Given the description of an element on the screen output the (x, y) to click on. 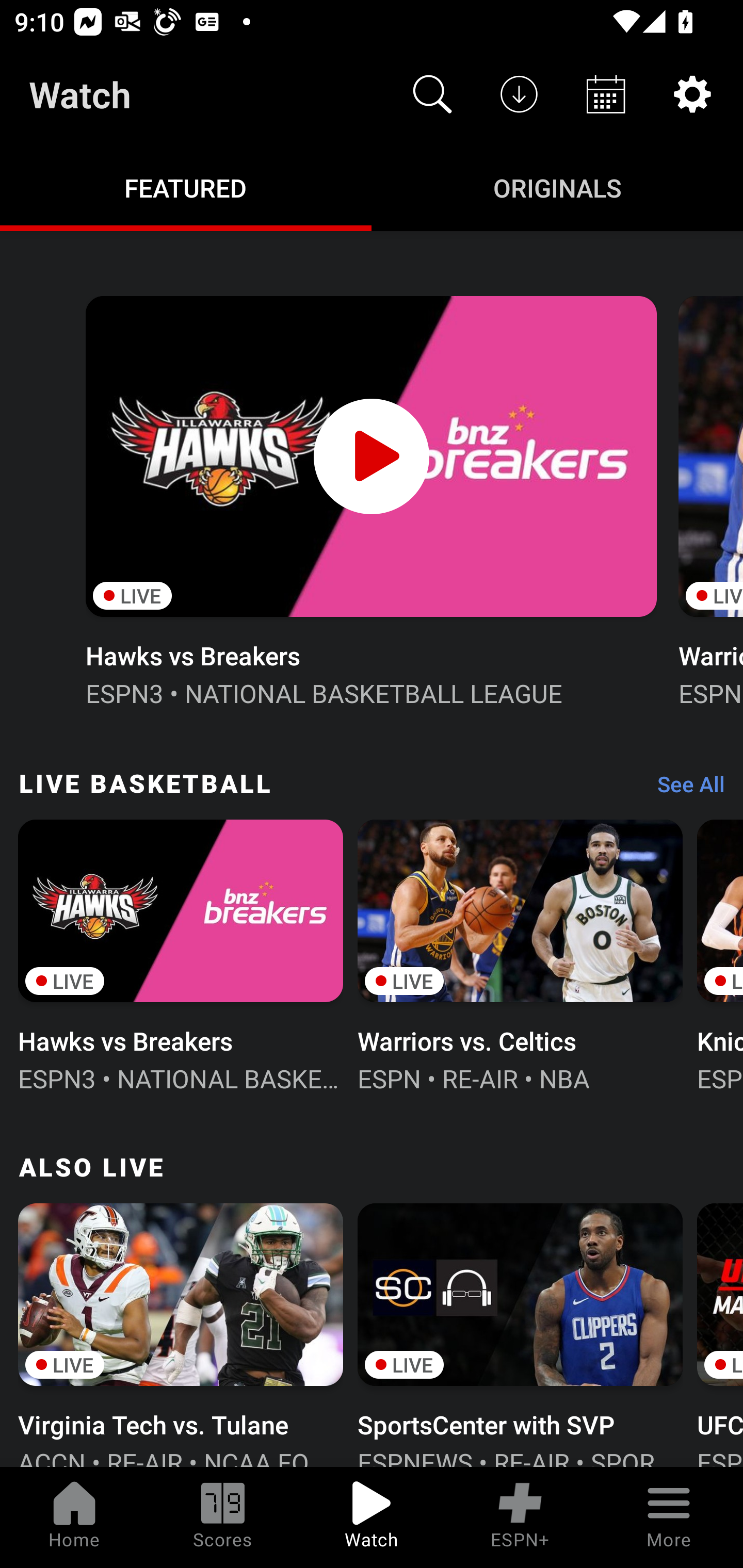
Search (432, 93)
Downloads (518, 93)
Schedule (605, 93)
Settings (692, 93)
Originals ORIGINALS (557, 187)
See All (683, 788)
LIVE Warriors vs. Celtics ESPN • RE-AIR • NBA (519, 954)
Home (74, 1517)
Scores (222, 1517)
ESPN+ (519, 1517)
More (668, 1517)
